Given the description of an element on the screen output the (x, y) to click on. 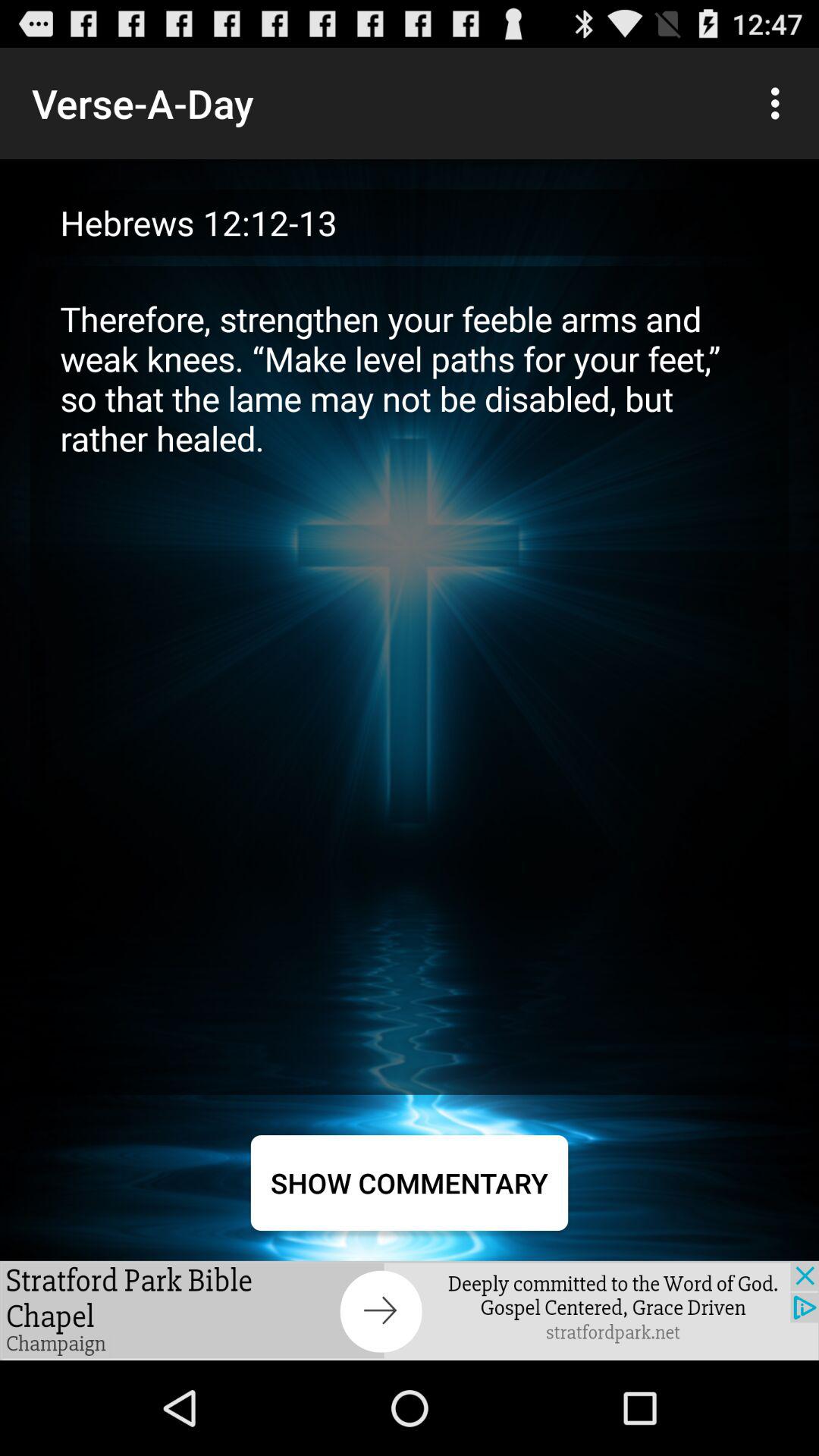
advertisement (409, 1310)
